Given the description of an element on the screen output the (x, y) to click on. 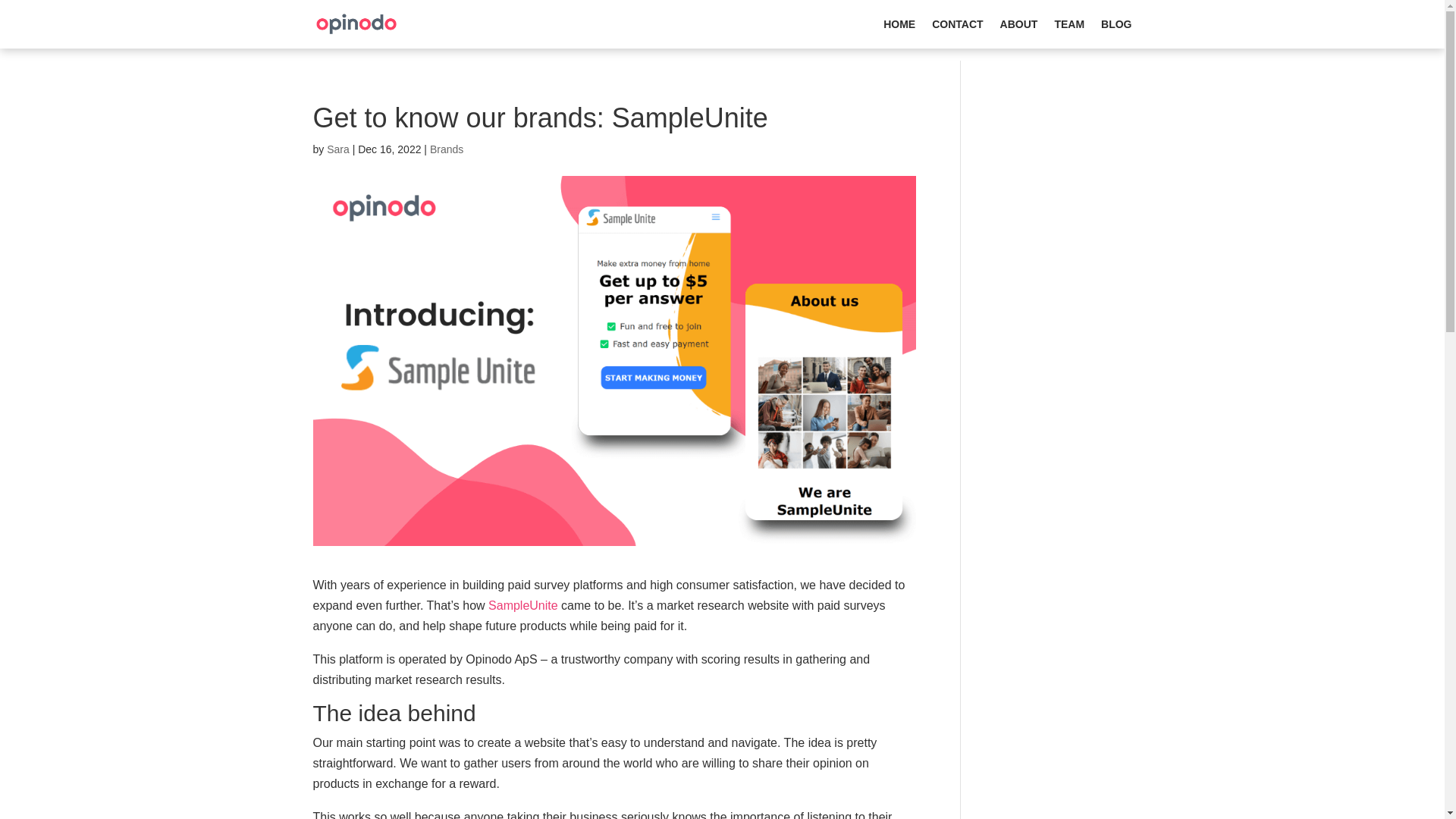
Posts by Sara (337, 149)
ABOUT (1019, 33)
Sara (337, 149)
BLOG (1115, 33)
CONTACT (956, 33)
HOME (899, 33)
Brands (446, 149)
SampleUnite (522, 604)
TEAM (1069, 33)
